Given the description of an element on the screen output the (x, y) to click on. 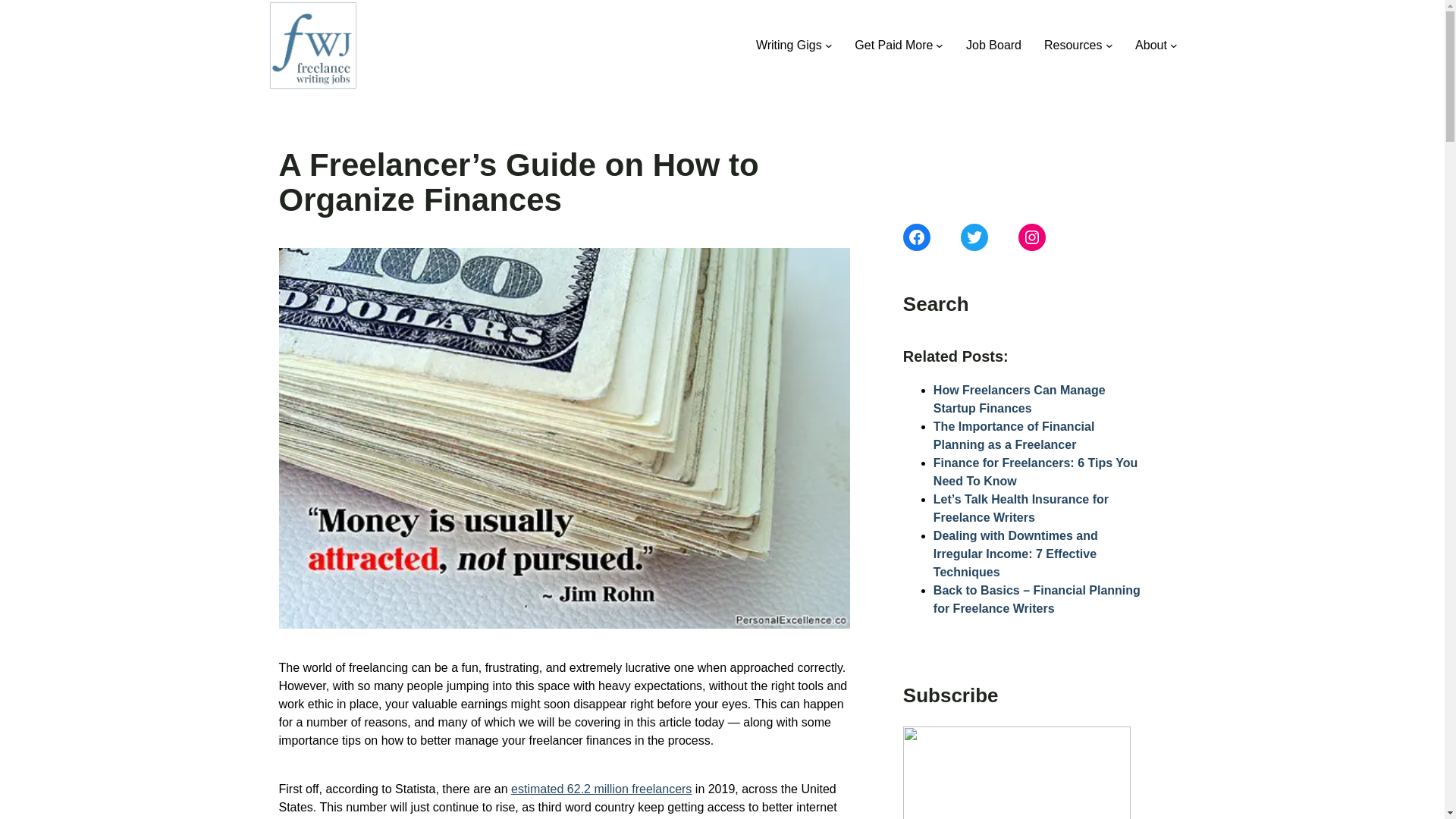
The Importance of Financial Planning as a Freelancer (1013, 435)
Finance for Freelancers: 6 Tips You Need To Know (1035, 471)
Writing Gigs (788, 45)
Resources (1072, 45)
How Freelancers Can Manage Startup Finances (1019, 399)
About (1151, 45)
Get Paid More (893, 45)
Facebook (916, 236)
Job Board (994, 45)
